Given the description of an element on the screen output the (x, y) to click on. 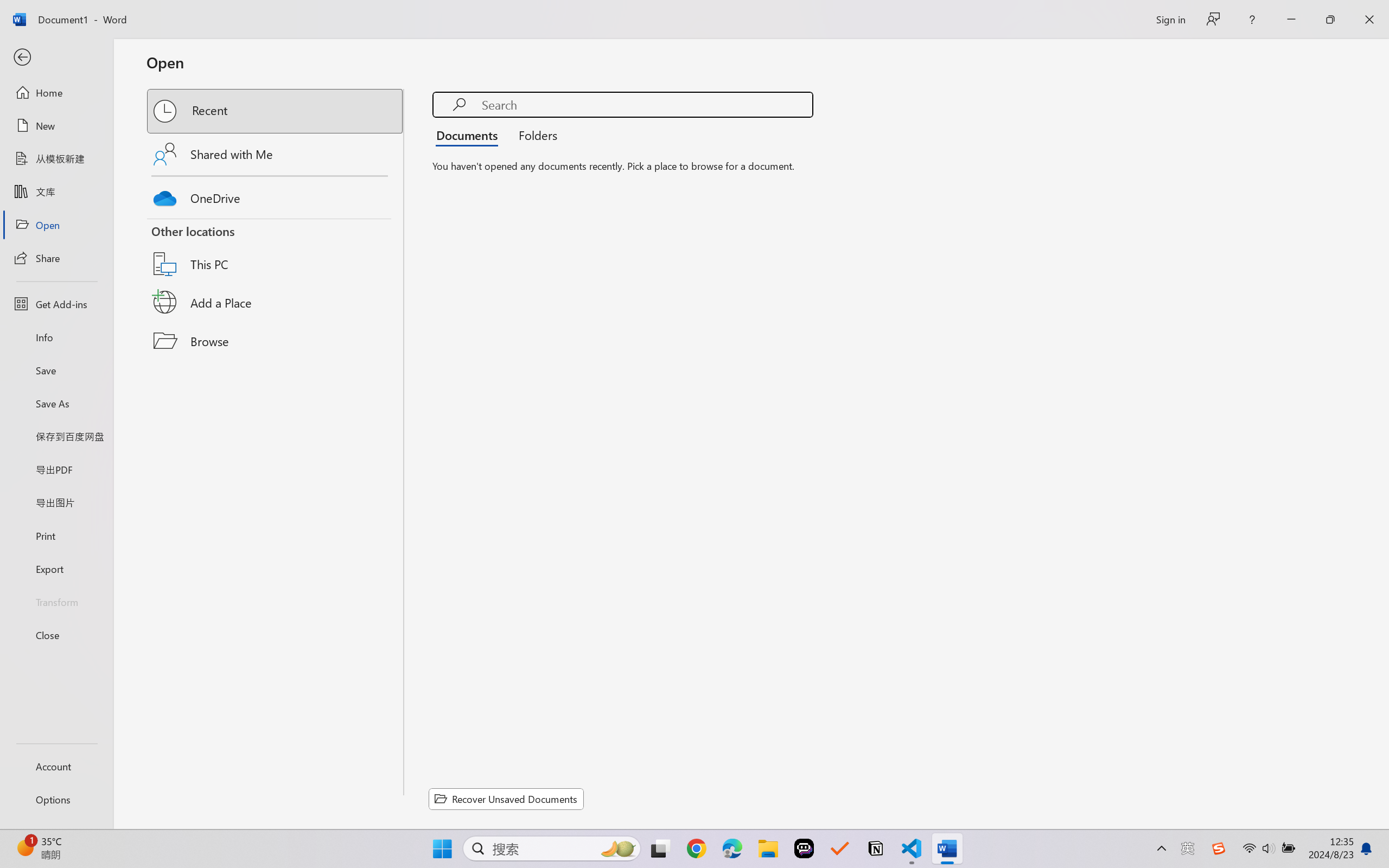
Transform (56, 601)
OneDrive (275, 195)
Back (56, 57)
New (56, 125)
Folders (534, 134)
Info (56, 337)
